Given the description of an element on the screen output the (x, y) to click on. 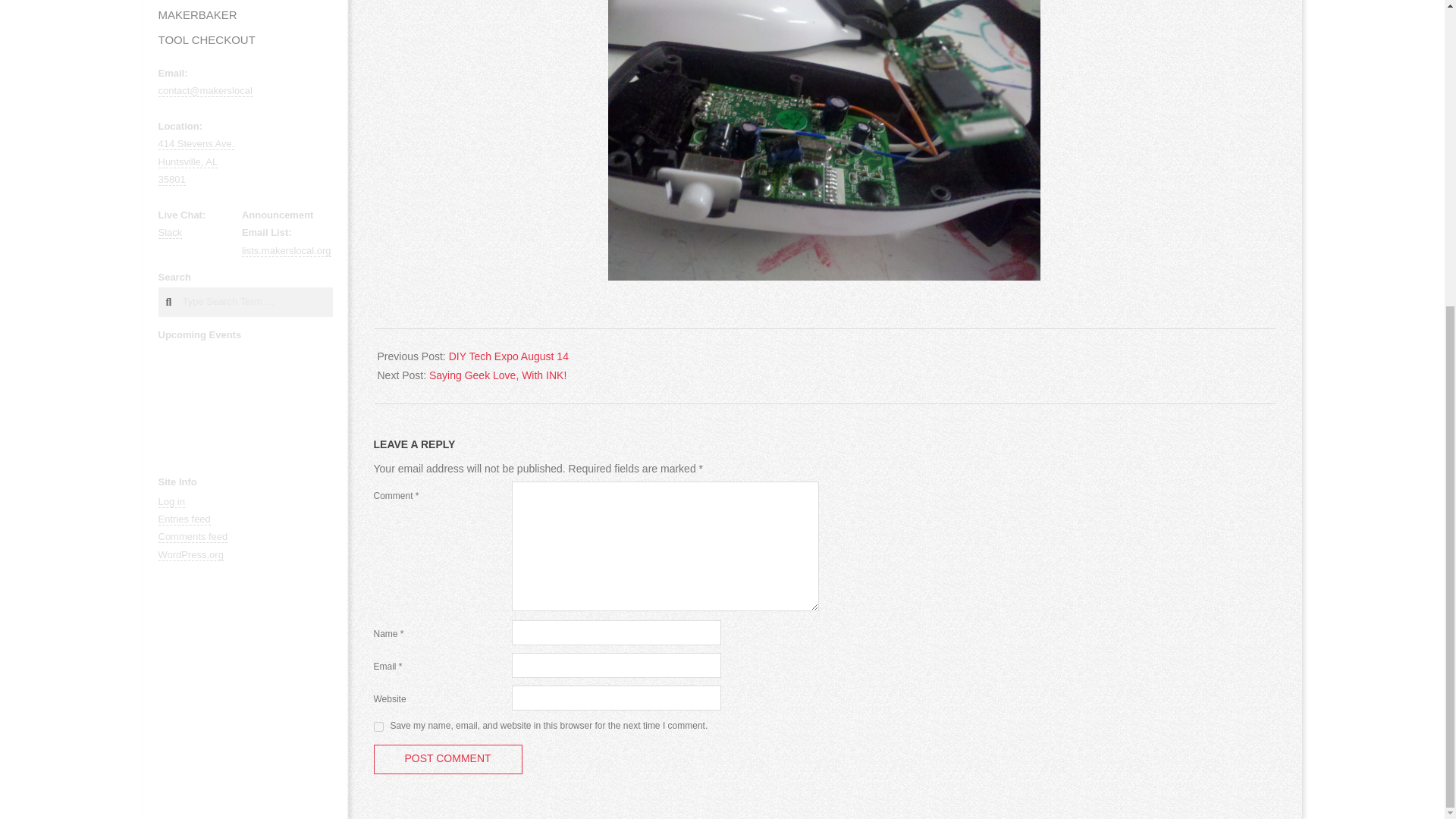
WordPress.org (189, 554)
Post Comment (195, 161)
Slack (446, 758)
Comments feed (169, 232)
2010-05-19 19.31.09 (192, 536)
Saying Geek Love, With INK! (824, 140)
Log in (497, 375)
Post Comment (170, 501)
MAKERBAKER (446, 758)
